Given the description of an element on the screen output the (x, y) to click on. 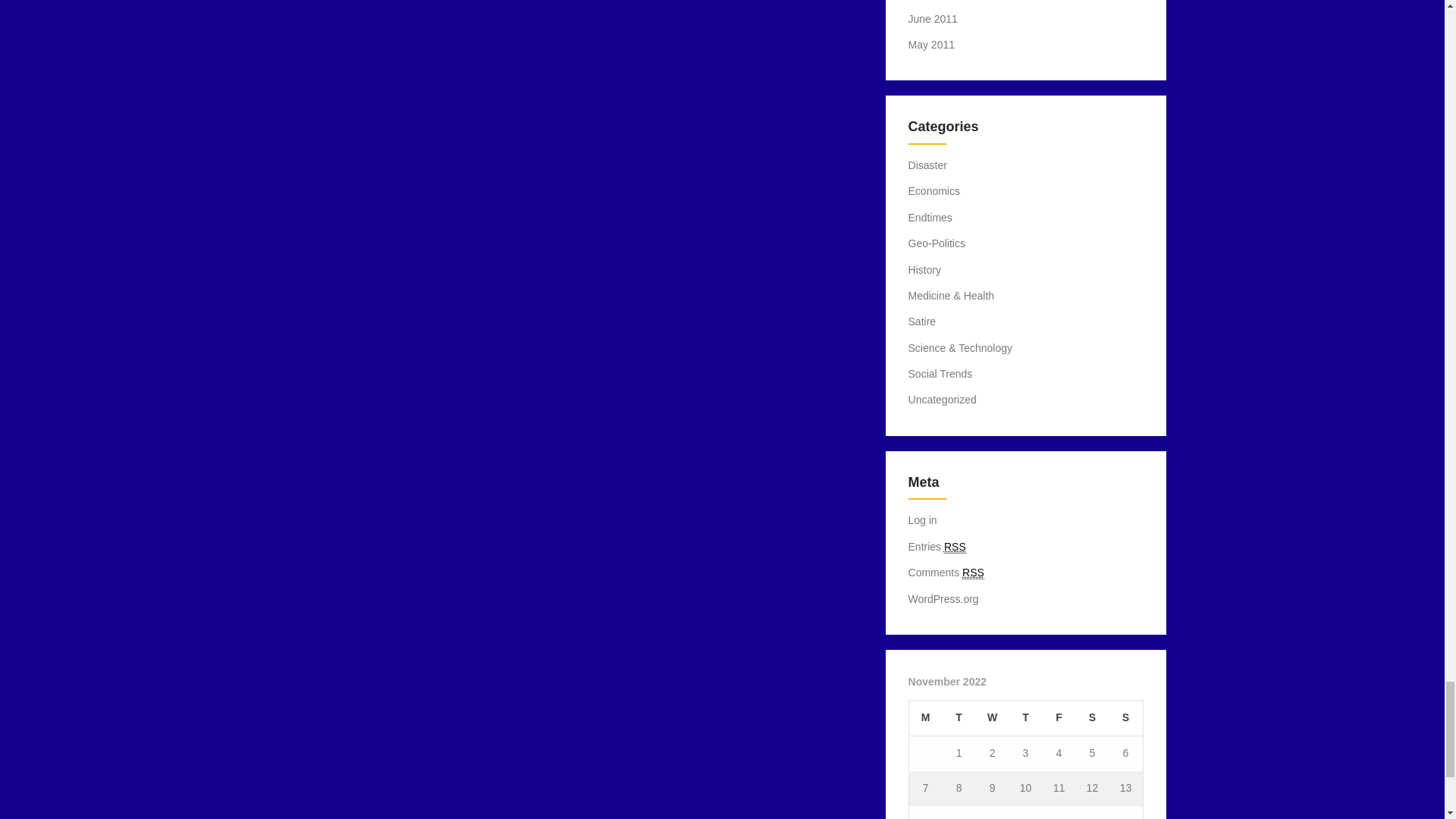
Friday (1058, 717)
Thursday (1025, 717)
Sunday (1125, 717)
Tuesday (958, 717)
Saturday (1091, 717)
Wednesday (992, 717)
Really Simple Syndication (954, 546)
Monday (925, 717)
Really Simple Syndication (973, 572)
